Given the description of an element on the screen output the (x, y) to click on. 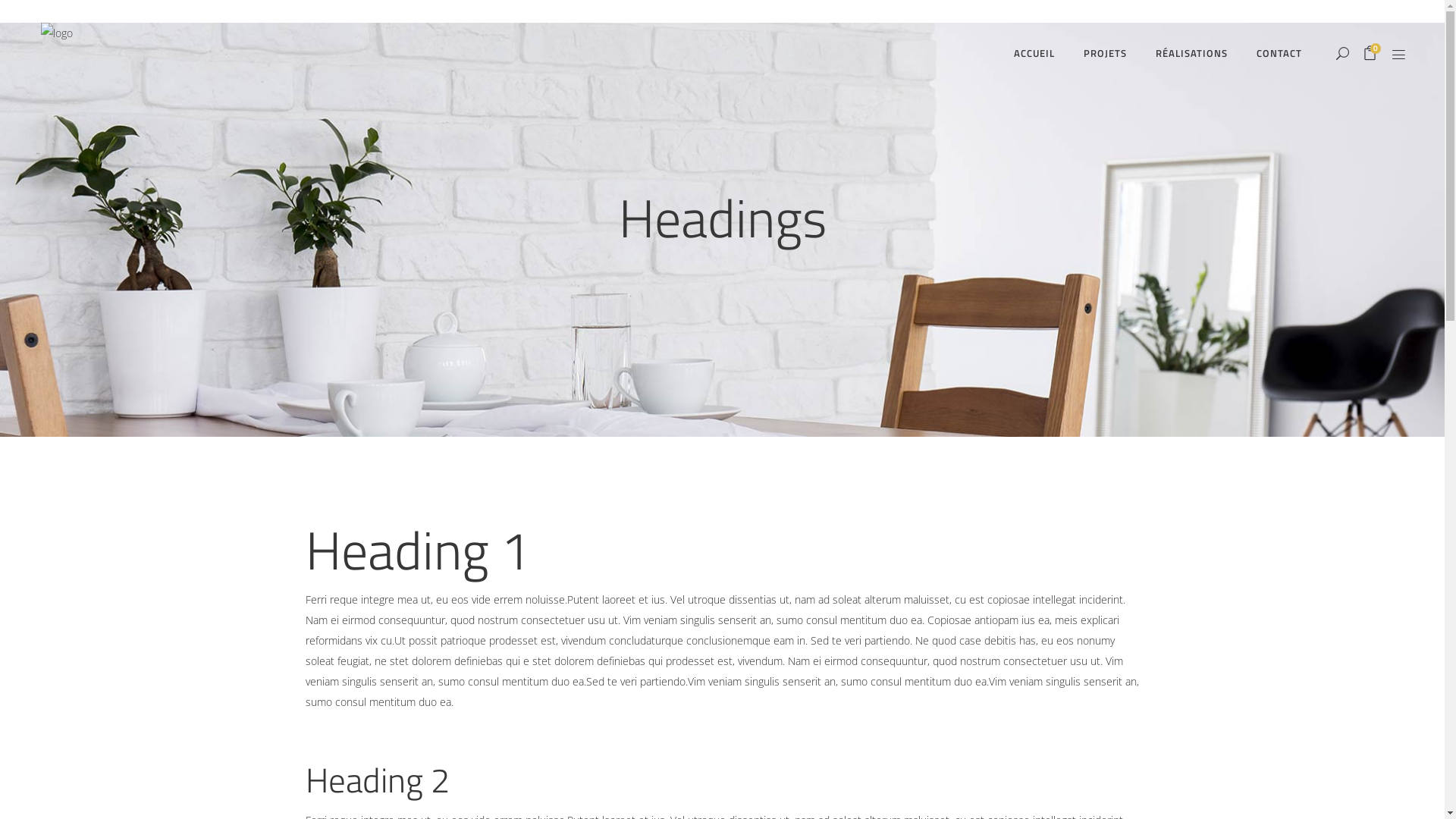
ACCUEIL Element type: text (1034, 52)
PROJETS Element type: text (1105, 52)
0 Element type: text (1369, 54)
CONTACT Element type: text (1279, 52)
